Given the description of an element on the screen output the (x, y) to click on. 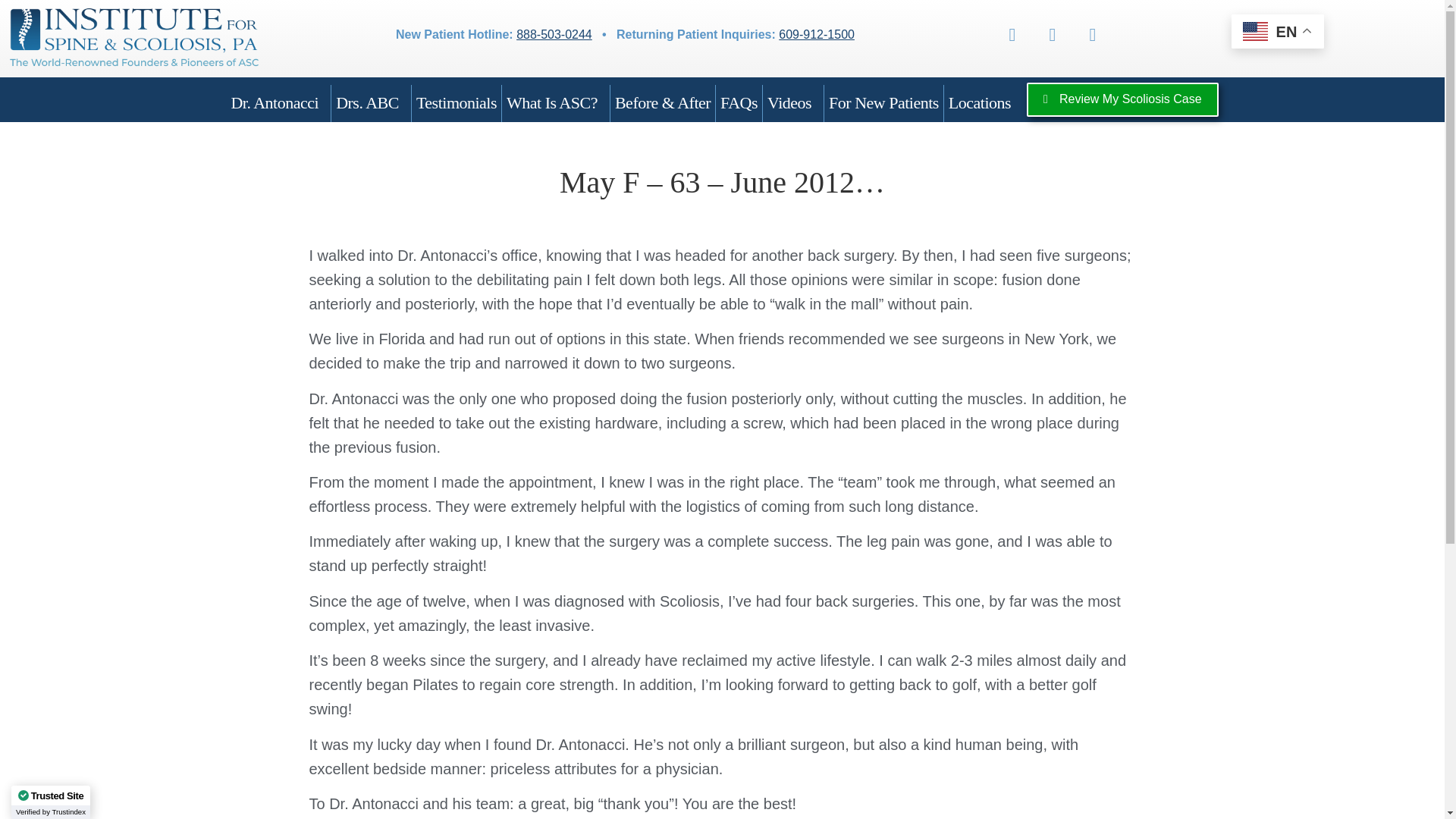
Videos (793, 103)
609-912-1500 (816, 33)
Drs. ABC (370, 103)
888-503-0244 (554, 33)
Testimonials (456, 103)
What Is ASC? (556, 103)
Dr. Antonacci (277, 103)
FAQs (738, 103)
